Given the description of an element on the screen output the (x, y) to click on. 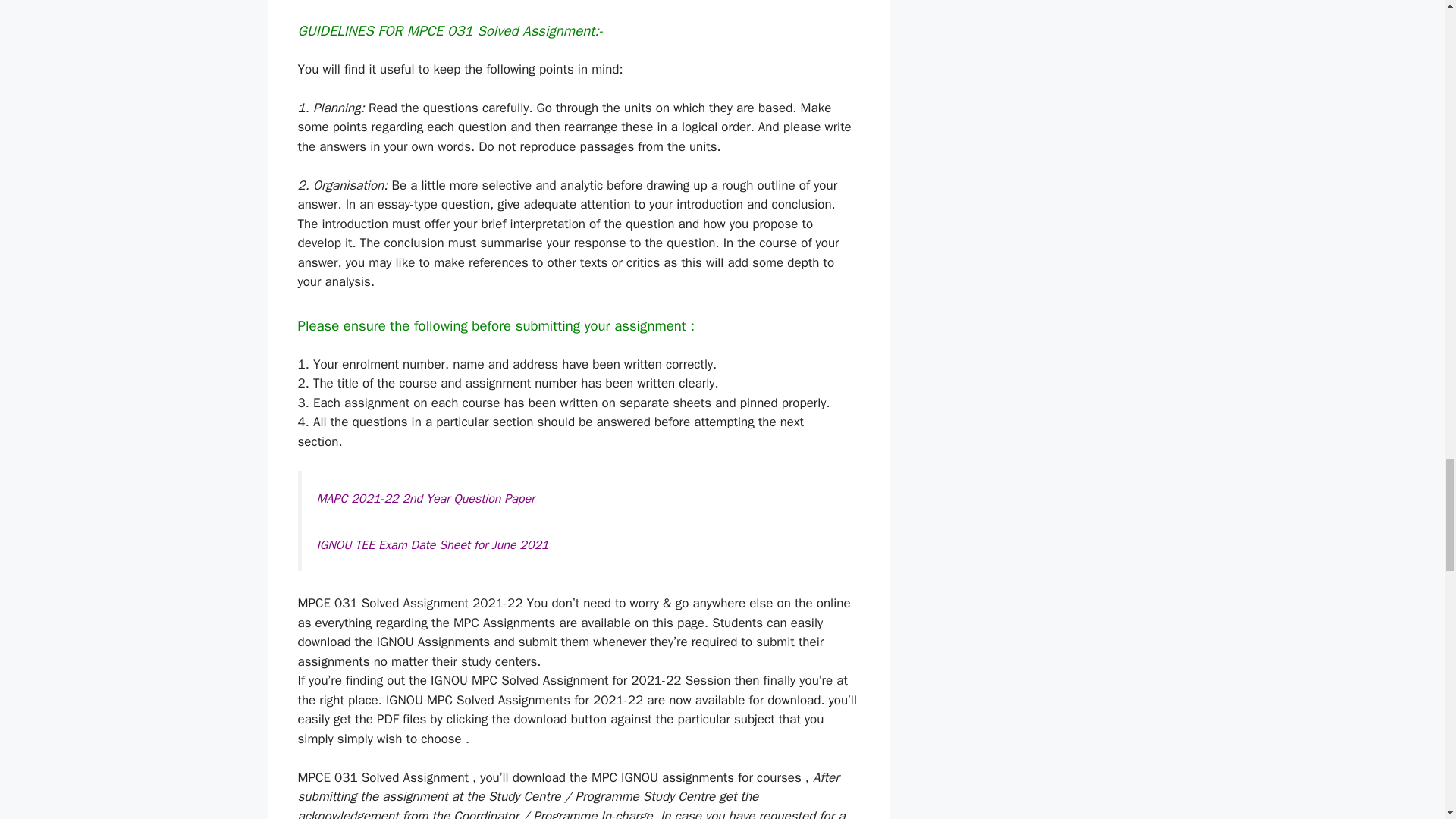
MAPC 2021-22 2nd Year Question Paper (426, 496)
IGNOU TEE Exam Date Sheet for June 2021 (432, 544)
